Given the description of an element on the screen output the (x, y) to click on. 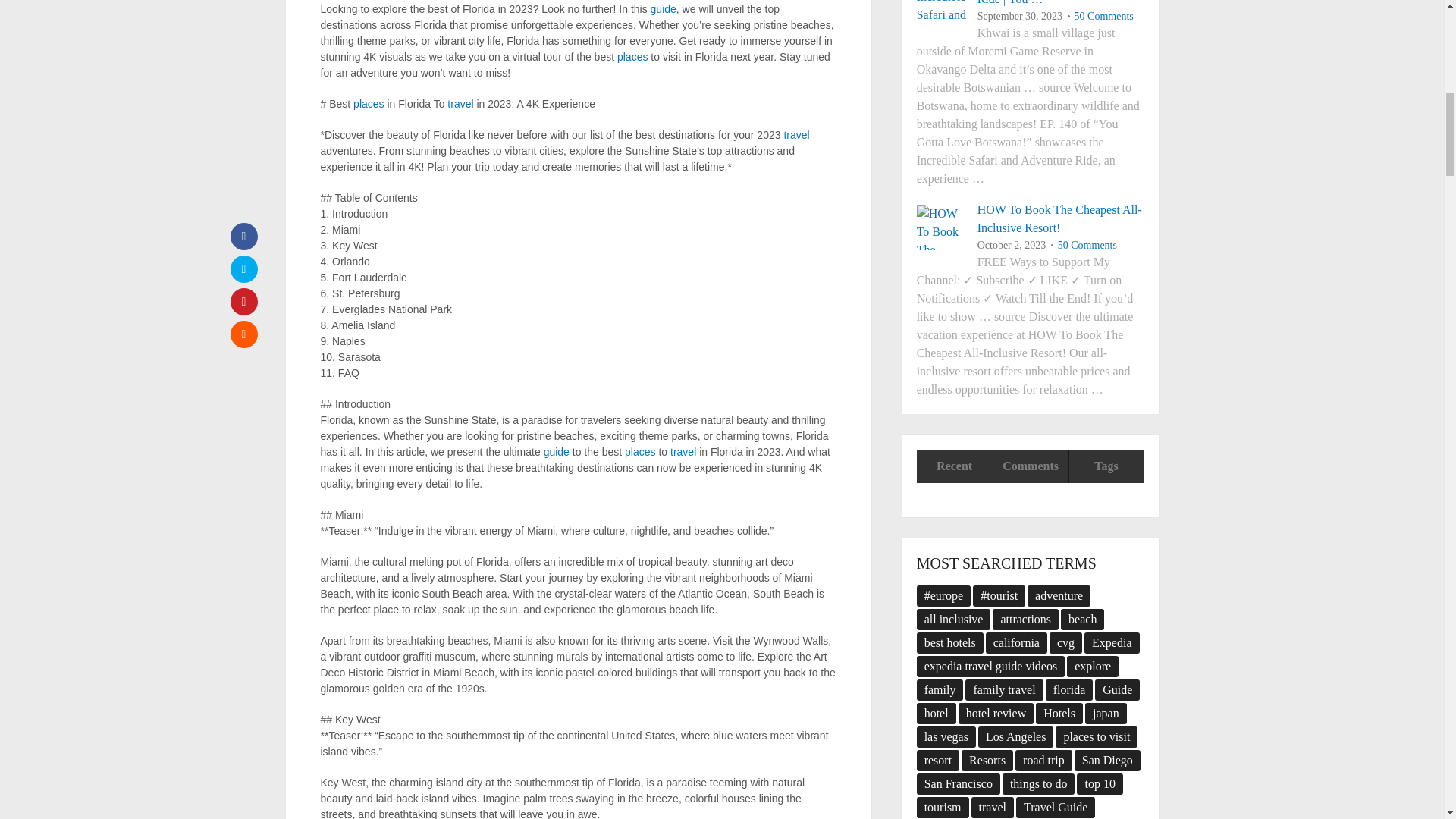
amazon kindle guides (556, 451)
amazon kindle guides (663, 9)
